Given the description of an element on the screen output the (x, y) to click on. 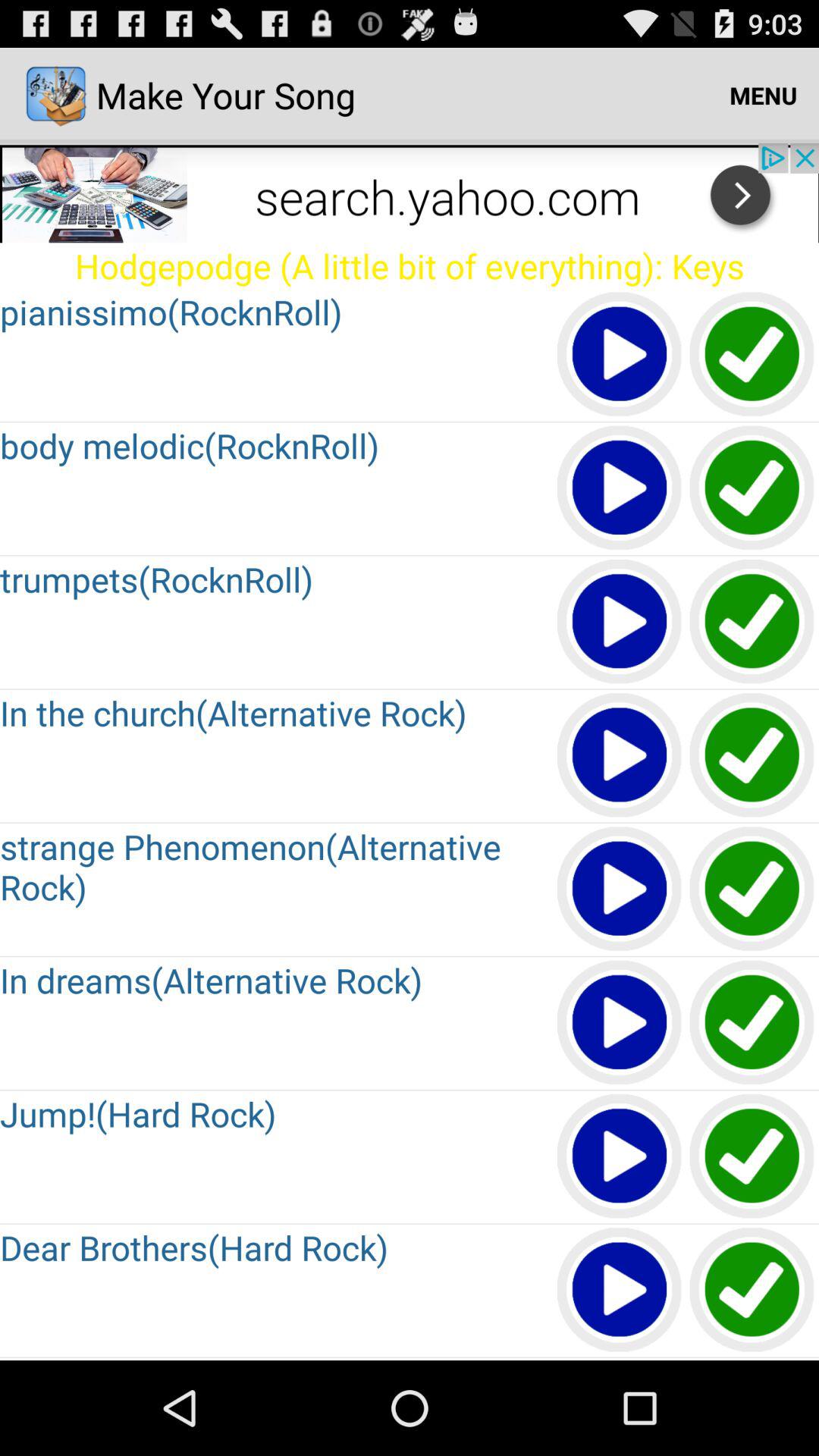
choose song (752, 889)
